Given the description of an element on the screen output the (x, y) to click on. 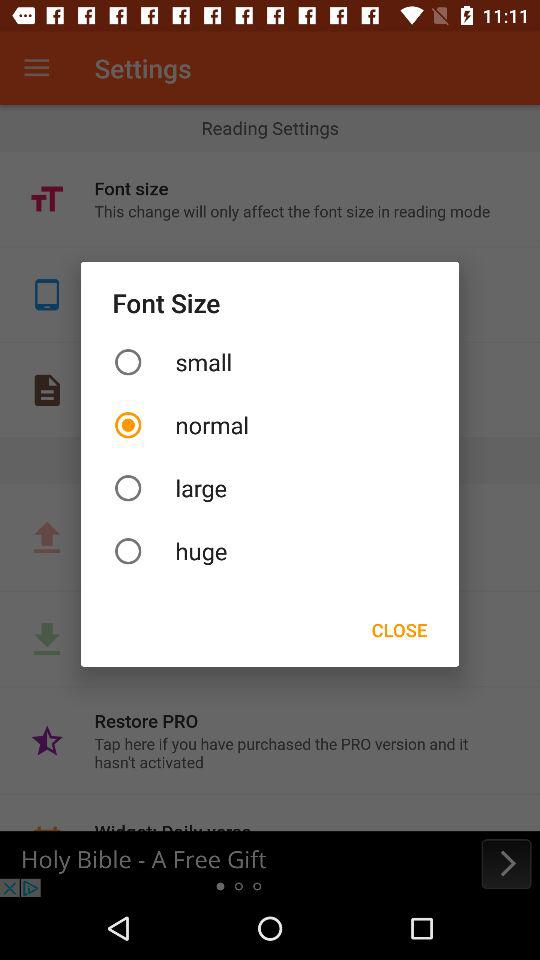
turn on the huge icon (270, 550)
